Given the description of an element on the screen output the (x, y) to click on. 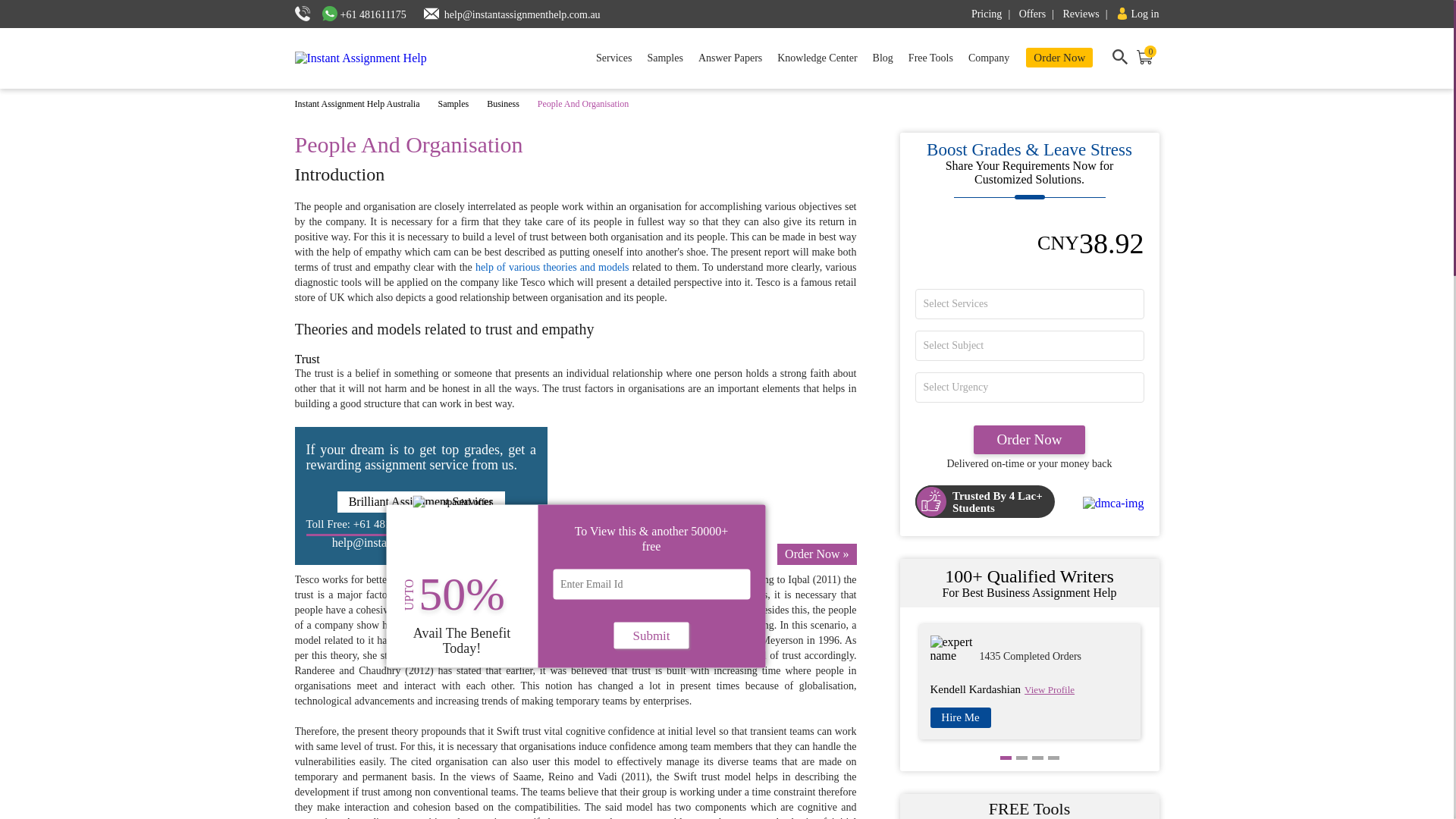
Blog (882, 57)
Offers (1039, 13)
Pricing (993, 13)
Services (613, 57)
Samples (664, 57)
Reviews (1087, 13)
Knowledge Center (817, 57)
Answer Papers (730, 57)
Log in (1137, 13)
